Given the description of an element on the screen output the (x, y) to click on. 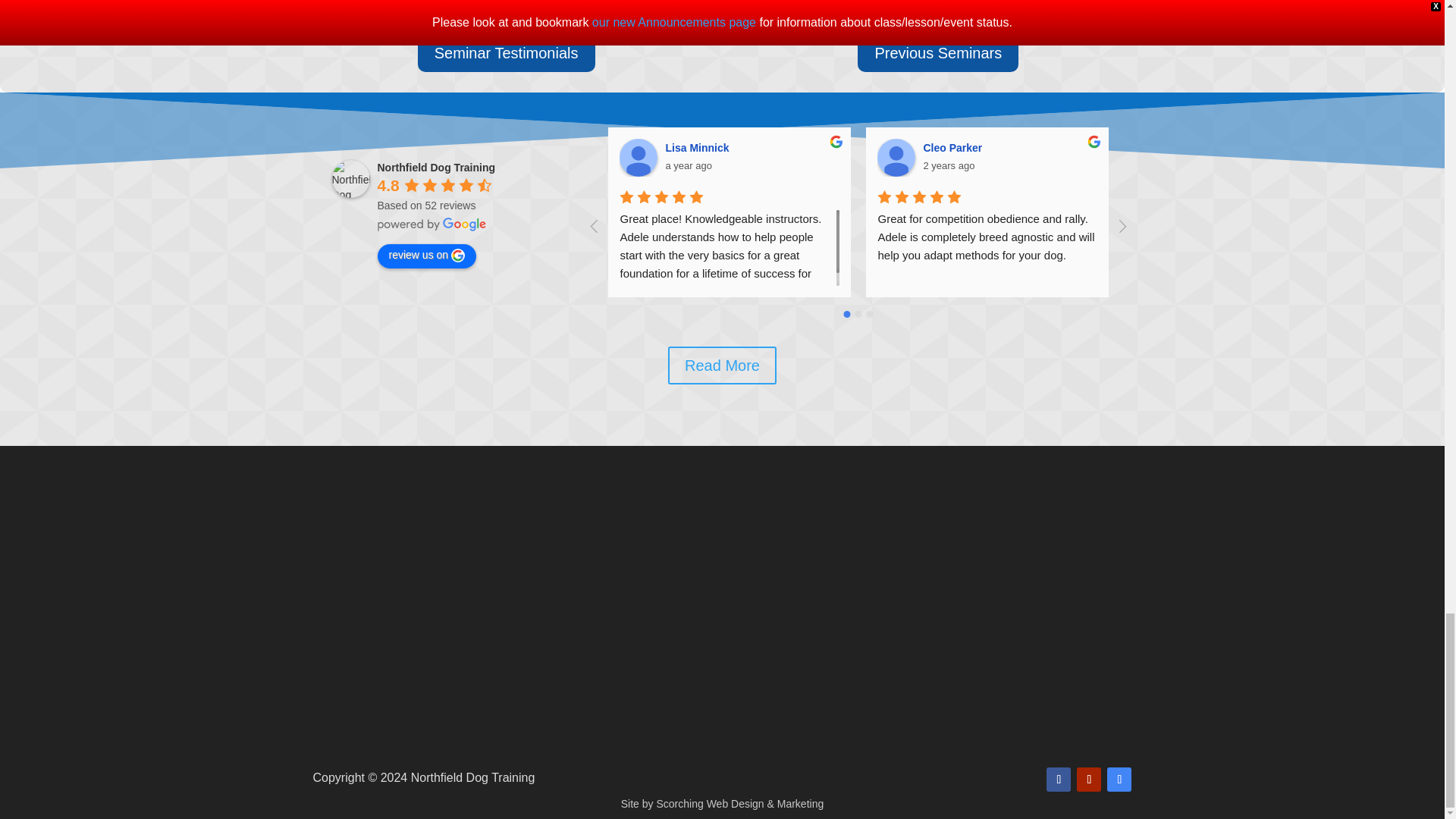
Kabrina Rozine (1412, 157)
Chris-Ann Paterson Welton (1154, 157)
Follow on Google (1118, 779)
Lisa Minnick (639, 157)
Follow on Youtube (1088, 779)
Follow on Facebook (1058, 779)
powered by Google (431, 223)
Northfield Dog Training (350, 178)
Cleo Parker (896, 157)
